Given the description of an element on the screen output the (x, y) to click on. 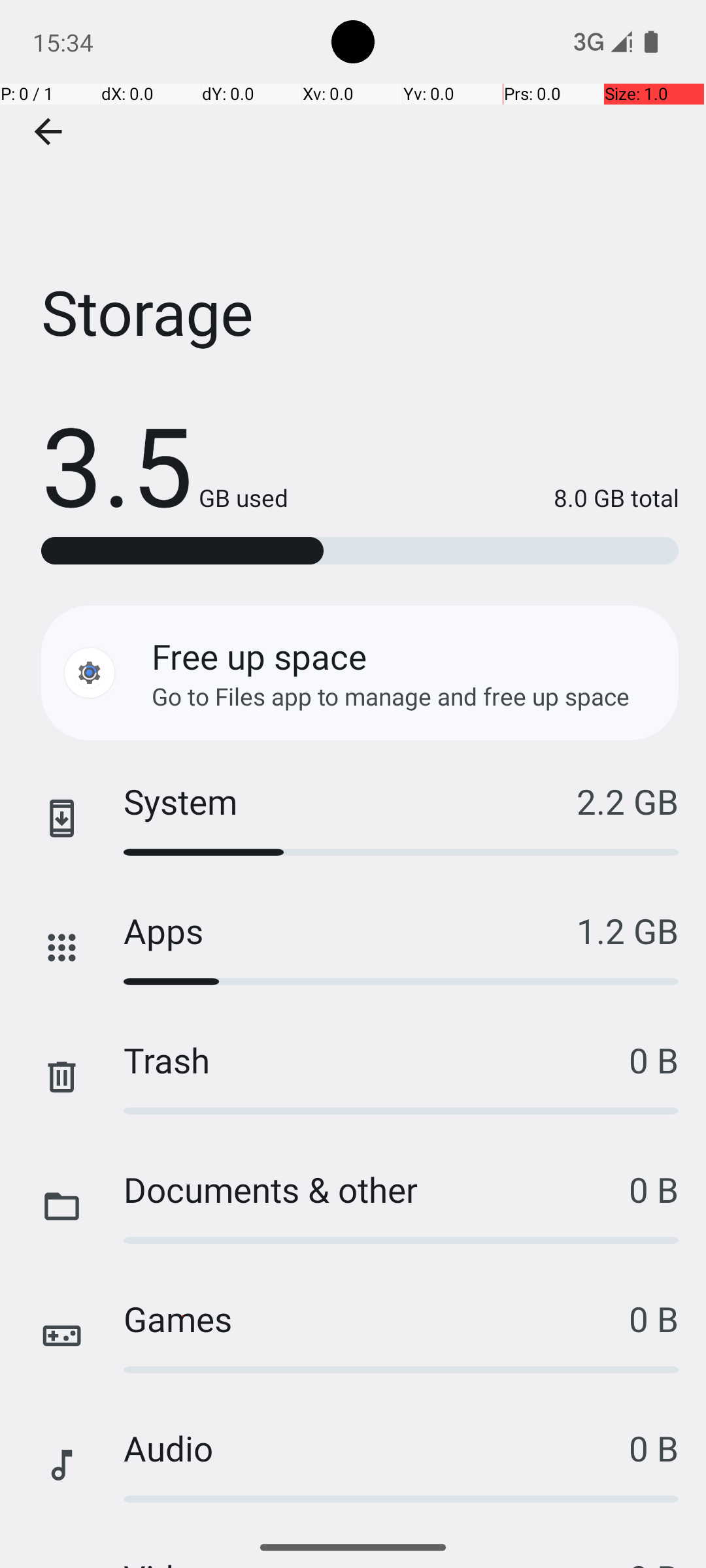
3.5 GB used Element type: android.widget.TextView (164, 463)
8.0 GB total Element type: android.widget.TextView (483, 497)
Free up space Element type: android.widget.TextView (258, 656)
Go to Files app to manage and free up space Element type: android.widget.TextView (390, 695)
2.2 GB Element type: android.widget.TextView (627, 801)
1.2 GB Element type: android.widget.TextView (627, 930)
Trash Element type: android.widget.TextView (375, 1059)
0 B Element type: android.widget.TextView (653, 1059)
Documents & other Element type: android.widget.TextView (375, 1189)
Games Element type: android.widget.TextView (375, 1318)
